Given the description of an element on the screen output the (x, y) to click on. 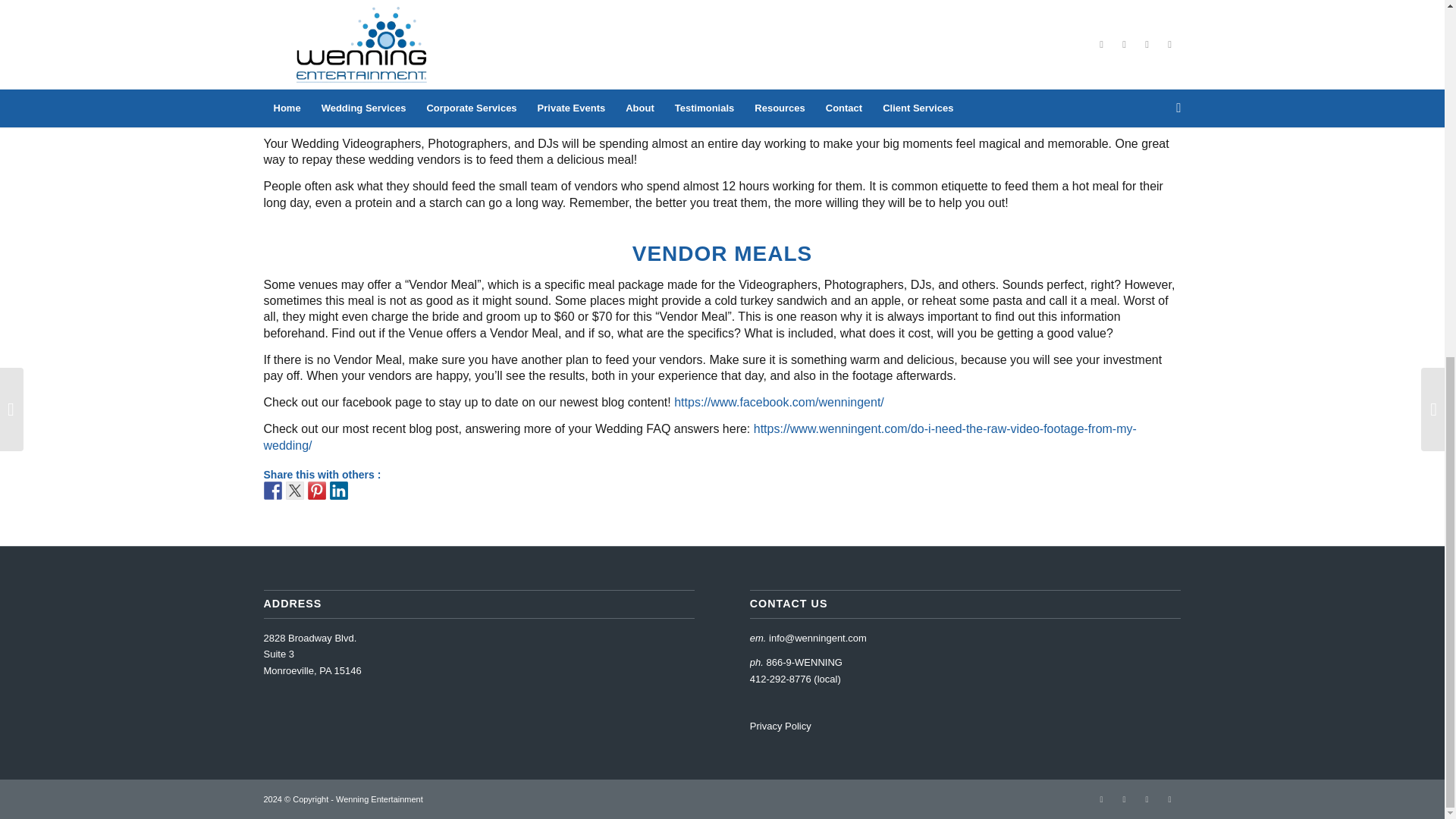
Pin it with Pinterest (316, 490)
Share on Facebook (272, 490)
Share on Twitter (293, 490)
